Given the description of an element on the screen output the (x, y) to click on. 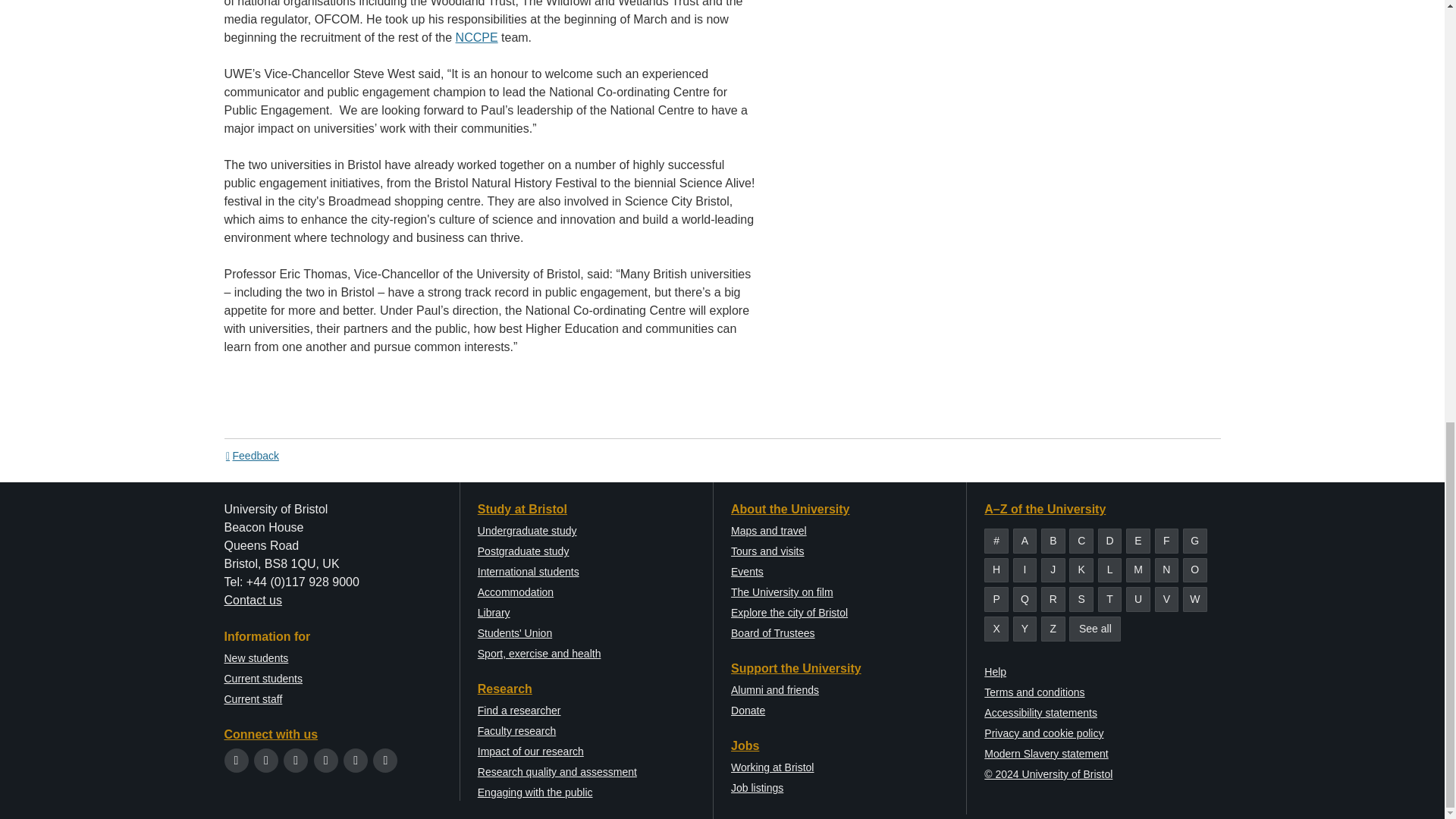
Flickr (384, 760)
LinkedIn (355, 760)
Facebook (265, 760)
Instagram (295, 760)
Twitter (236, 760)
New students (256, 657)
NCCPE (476, 37)
YouTube (325, 760)
Contact us (253, 599)
Feedback (252, 455)
